Given the description of an element on the screen output the (x, y) to click on. 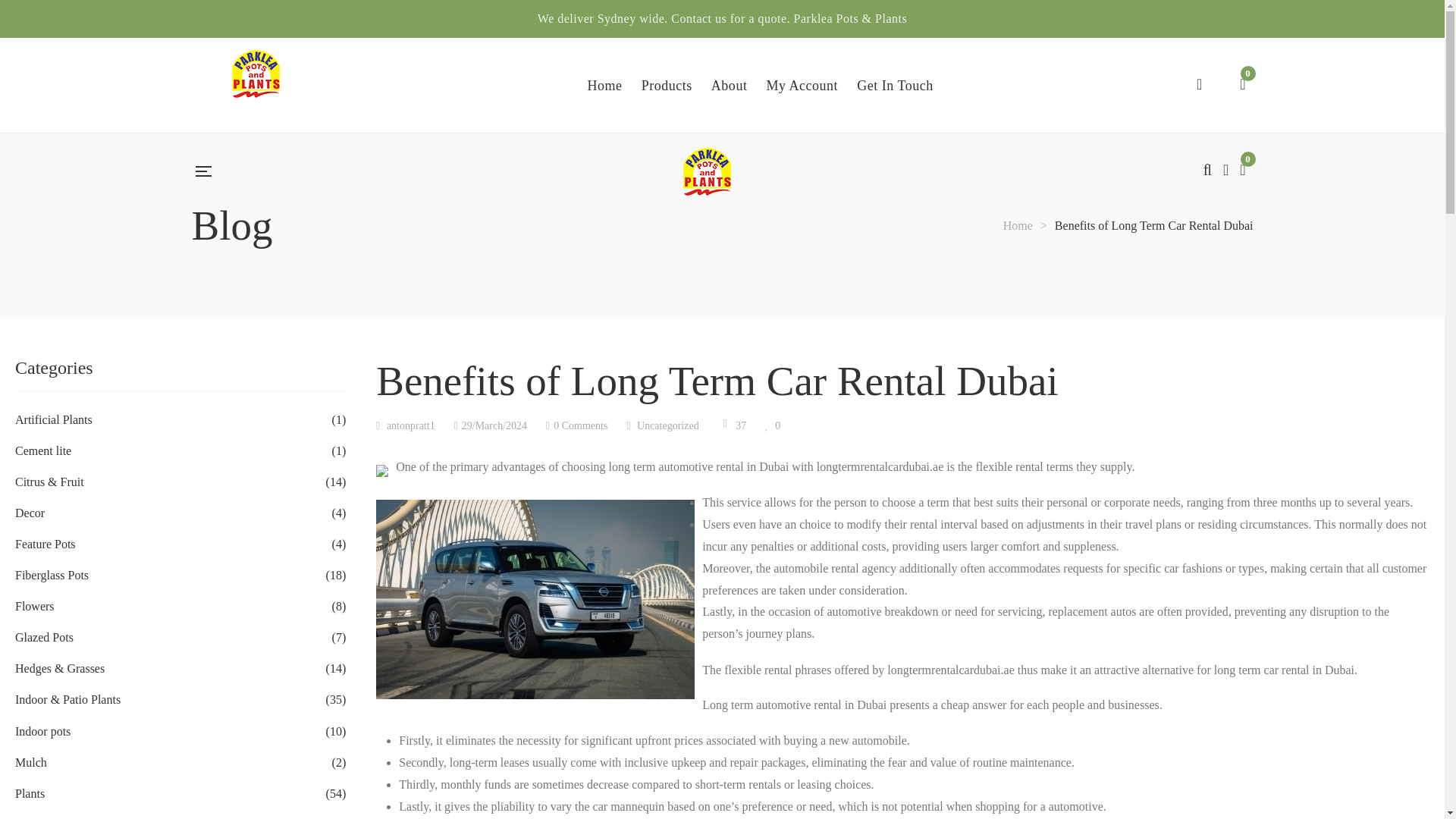
0 Comments (576, 425)
Home (1017, 225)
0 (772, 425)
Benefits of Long Term Car Rental Dubai (490, 425)
Get In Touch (895, 85)
About (729, 85)
antonpratt1 (404, 425)
My Account (801, 85)
Products (667, 85)
Browse Author Articles (404, 425)
